Given the description of an element on the screen output the (x, y) to click on. 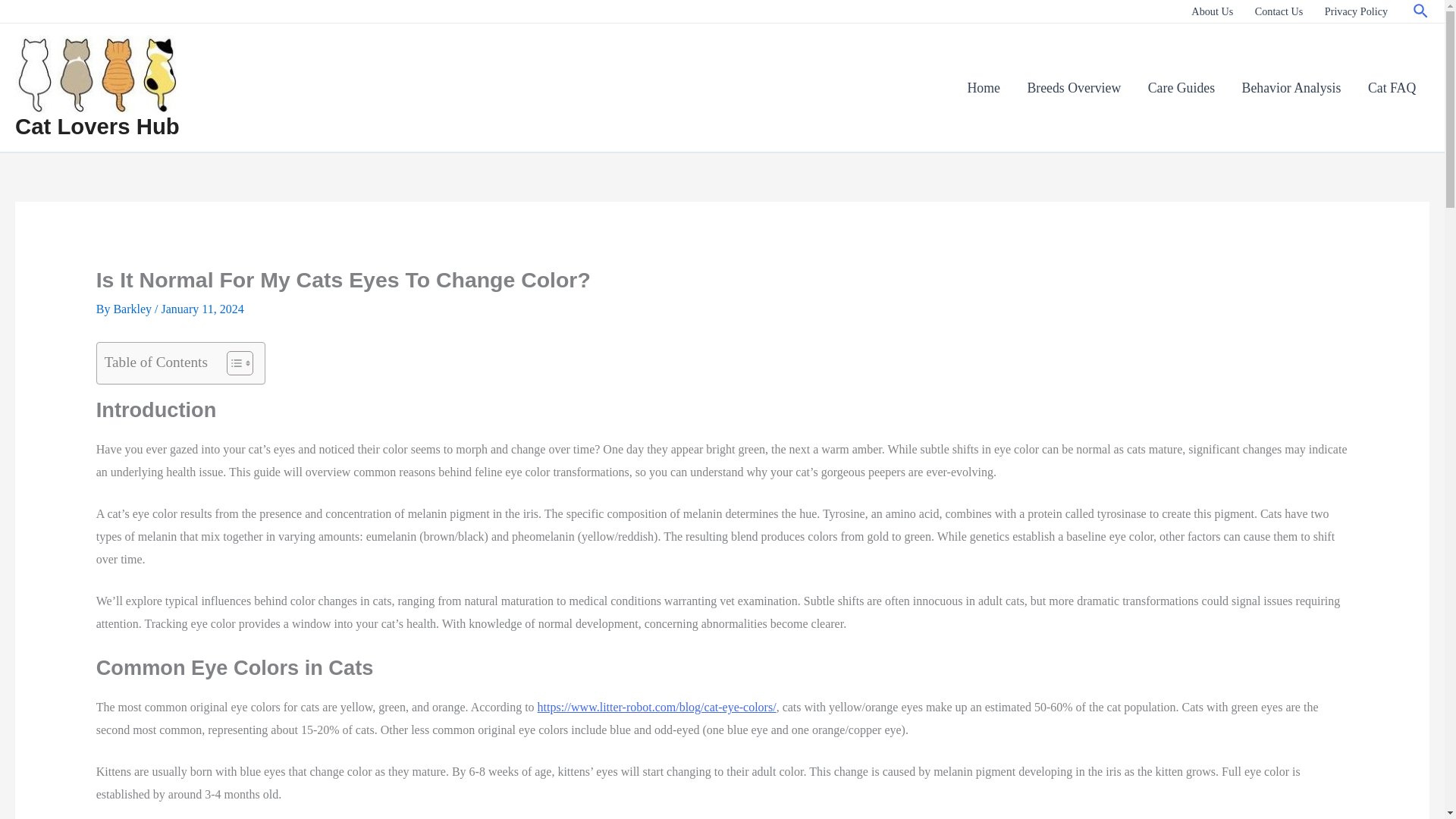
Privacy Policy (1356, 11)
Behavior Analysis (1291, 87)
Cat Lovers Hub (96, 125)
View all posts by Barkley (133, 308)
Breeds Overview (1073, 87)
About Us (1211, 11)
Care Guides (1181, 87)
Contact Us (1278, 11)
Barkley (133, 308)
